Given the description of an element on the screen output the (x, y) to click on. 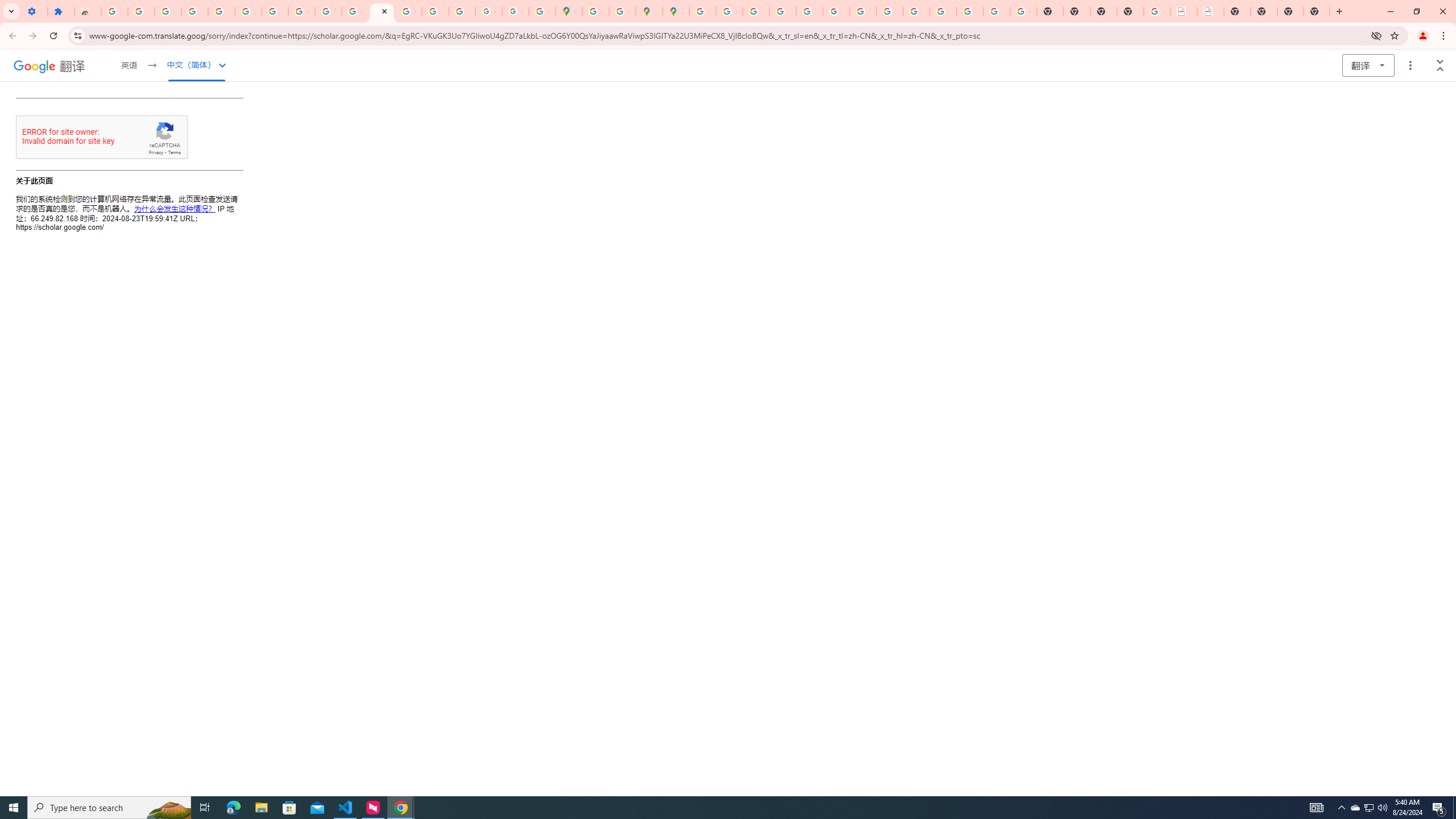
Google Maps (569, 11)
Privacy Help Center - Policies Help (782, 11)
LAAD Defence & Security 2025 | BAE Systems (1183, 11)
